Given the description of an element on the screen output the (x, y) to click on. 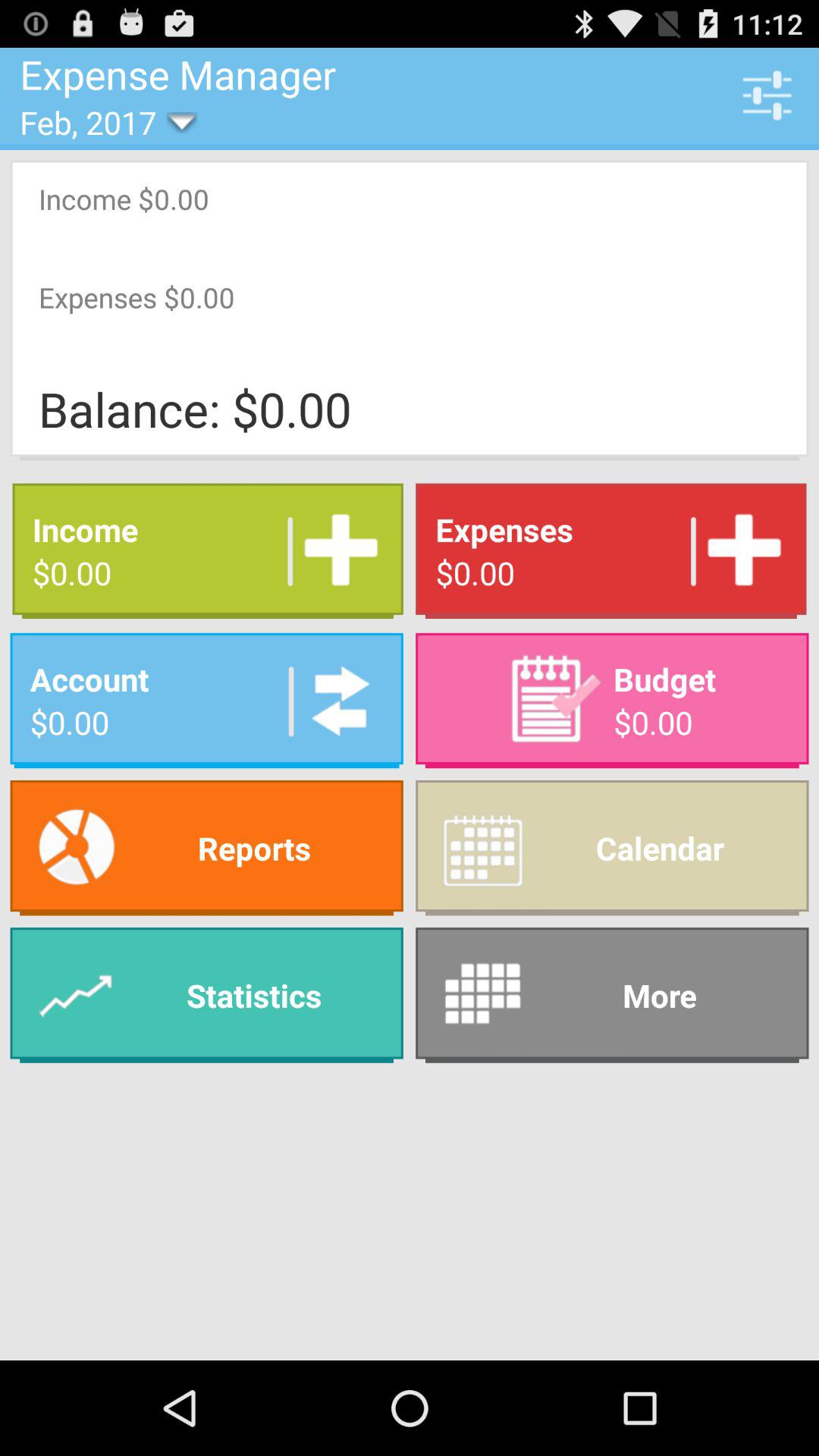
add incoome (335, 550)
